Given the description of an element on the screen output the (x, y) to click on. 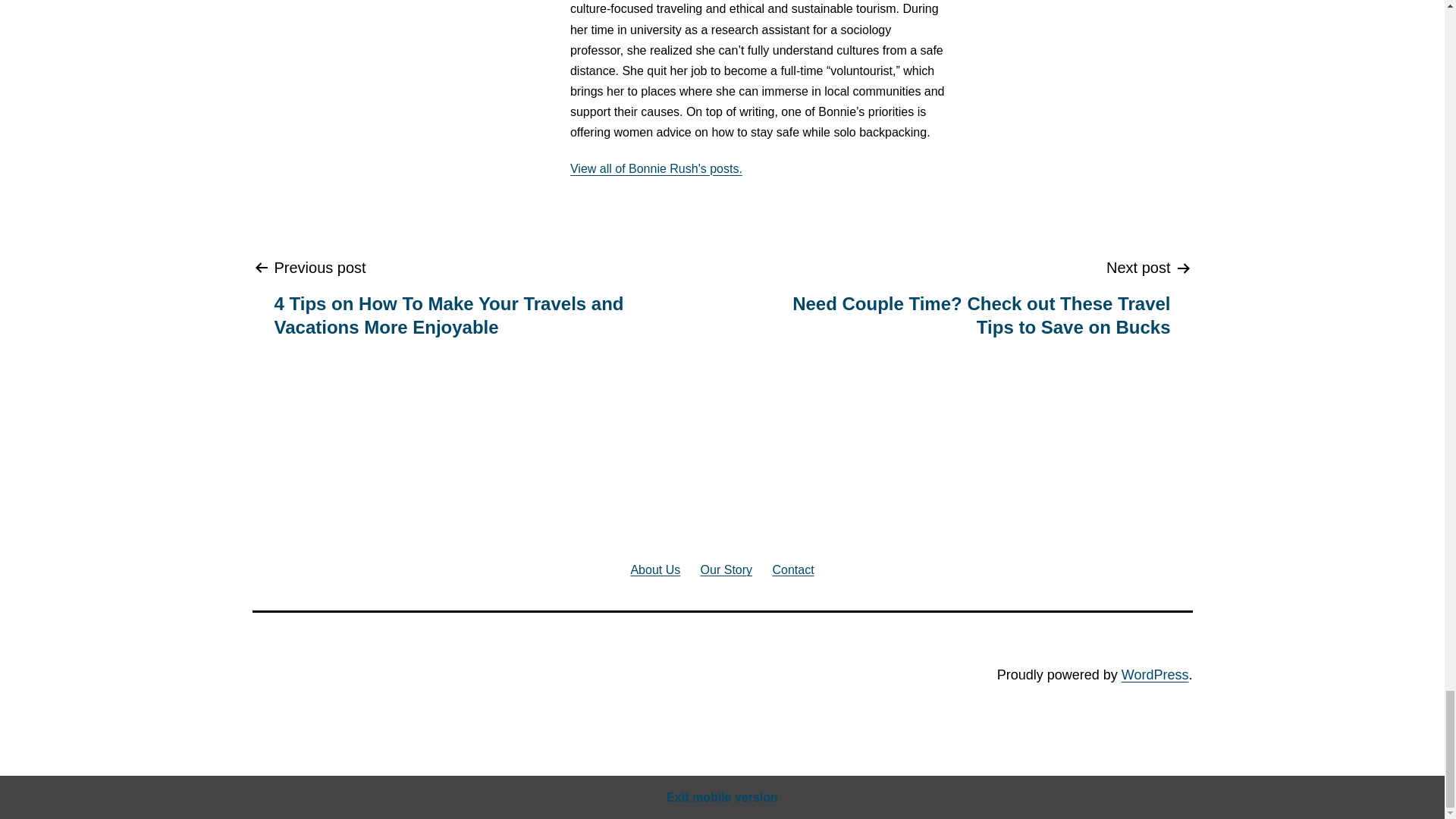
View all of Bonnie Rush's posts. (656, 168)
About Us (655, 569)
Contact (792, 569)
Our Story (725, 569)
WordPress (1155, 674)
